Given the description of an element on the screen output the (x, y) to click on. 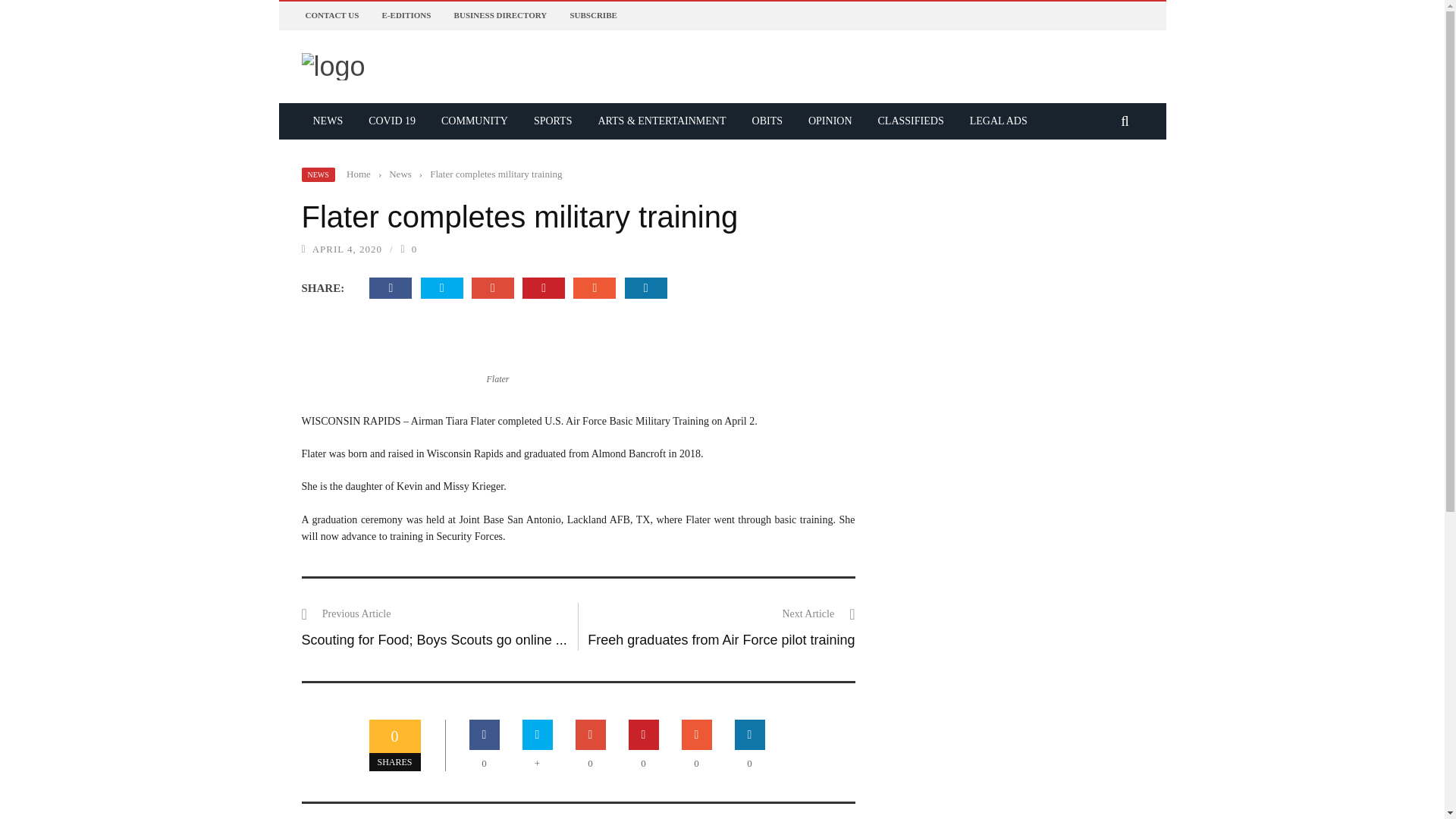
COMMUNITY (474, 120)
NEWS (328, 120)
SPORTS (552, 120)
CONTACT US (331, 14)
COVID 19 (391, 120)
BUSINESS DIRECTORY (500, 14)
E-EDITIONS (405, 14)
SUBSCRIBE (592, 14)
